Given the description of an element on the screen output the (x, y) to click on. 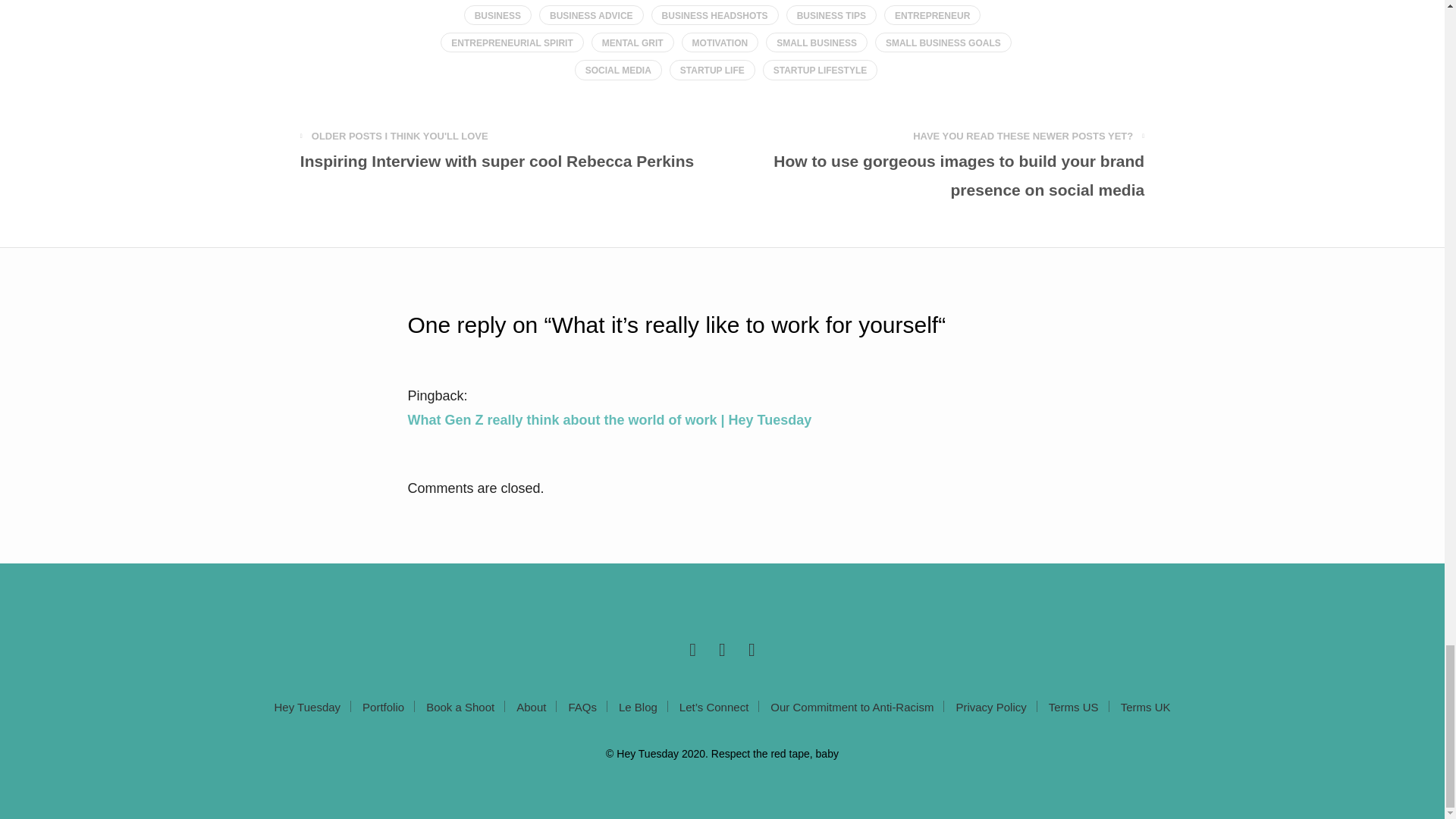
ENTREPRENEUR (931, 14)
MENTAL GRIT (632, 42)
FAQs (581, 707)
STARTUP LIFESTYLE (819, 69)
SMALL BUSINESS (816, 42)
BUSINESS HEADSHOTS (714, 14)
SMALL BUSINESS GOALS (943, 42)
SOCIAL MEDIA (618, 69)
Hey Tuesday (307, 707)
BUSINESS TIPS (831, 14)
Portfolio (383, 707)
ENTREPRENEURIAL SPIRIT (512, 42)
MOTIVATION (719, 42)
About (531, 707)
